Given the description of an element on the screen output the (x, y) to click on. 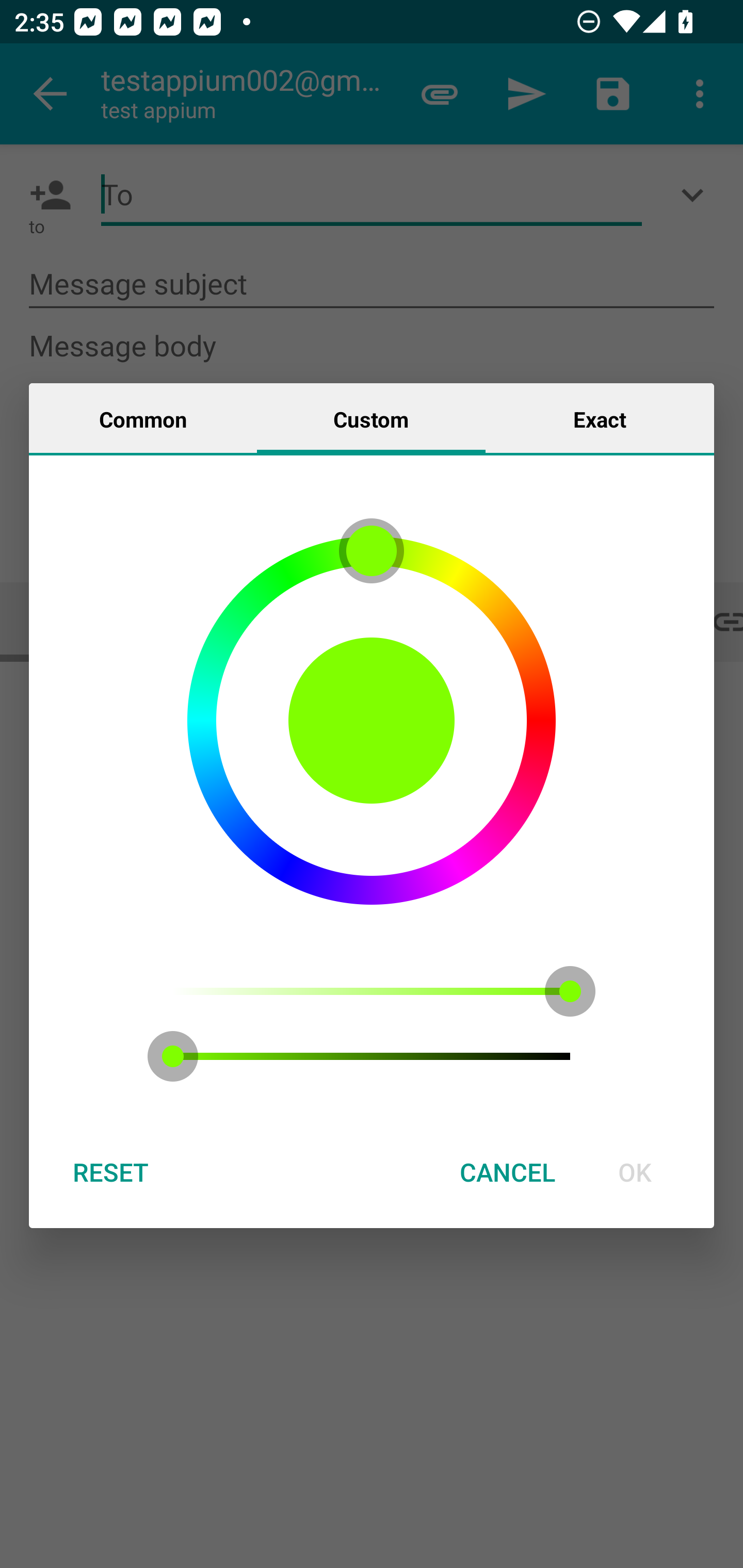
Common (142, 418)
Custom (371, 418)
Exact (599, 418)
RESET (110, 1171)
CANCEL (507, 1171)
OK (634, 1171)
